Given the description of an element on the screen output the (x, y) to click on. 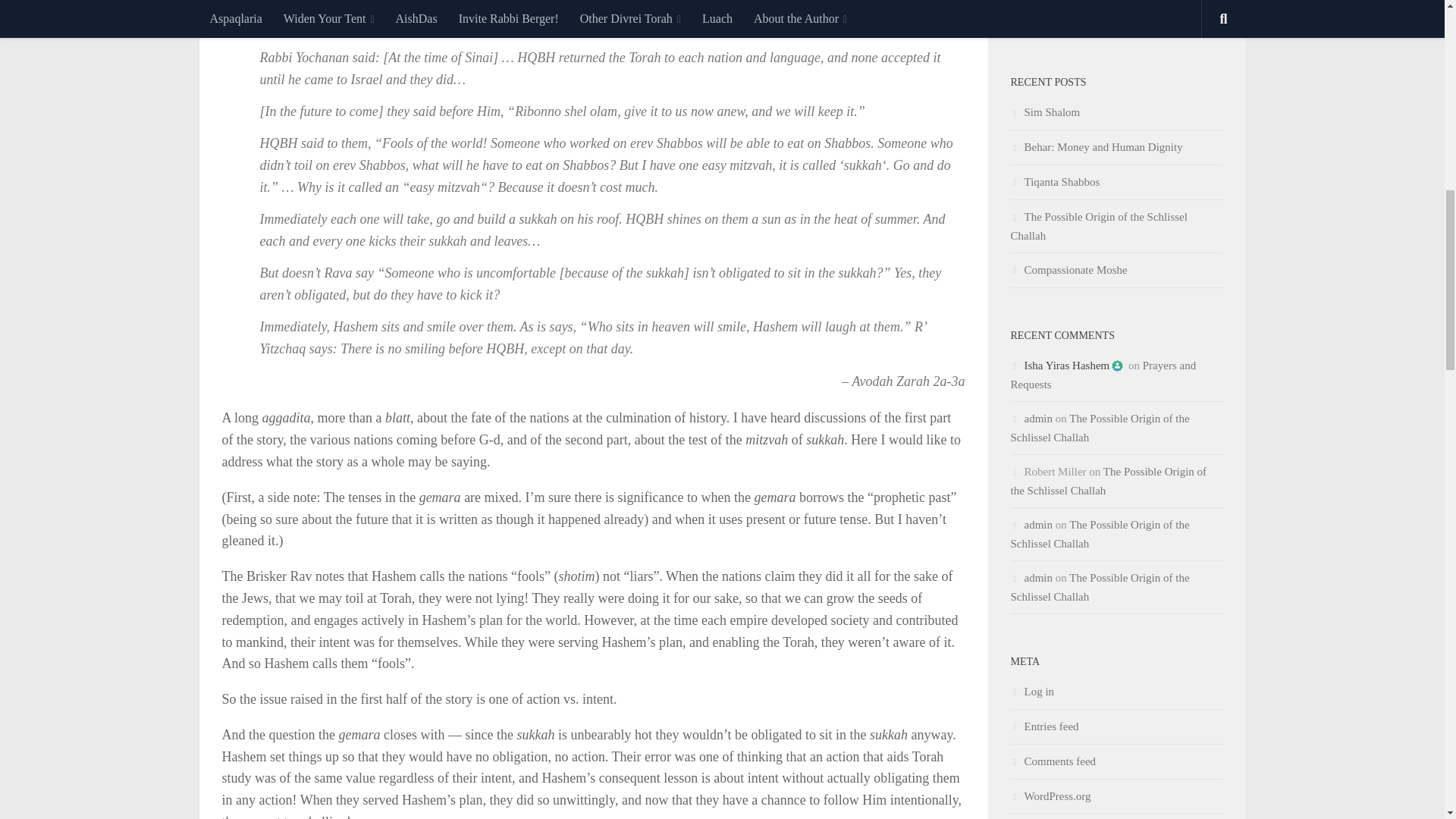
Subscribe (1115, 6)
